Given the description of an element on the screen output the (x, y) to click on. 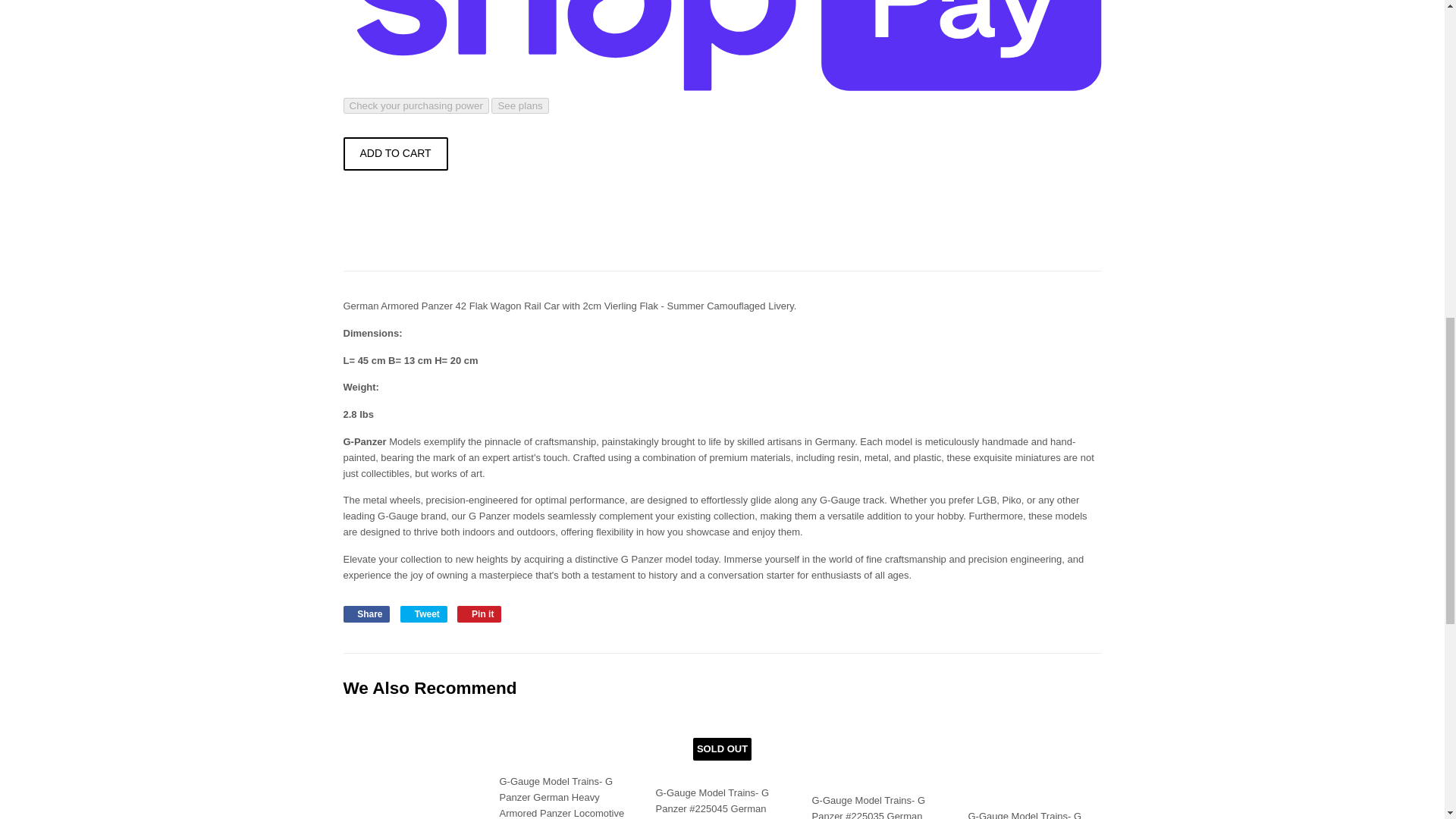
Share on Facebook (366, 614)
Pin on Pinterest (478, 614)
Tweet on Twitter (423, 614)
